Given the description of an element on the screen output the (x, y) to click on. 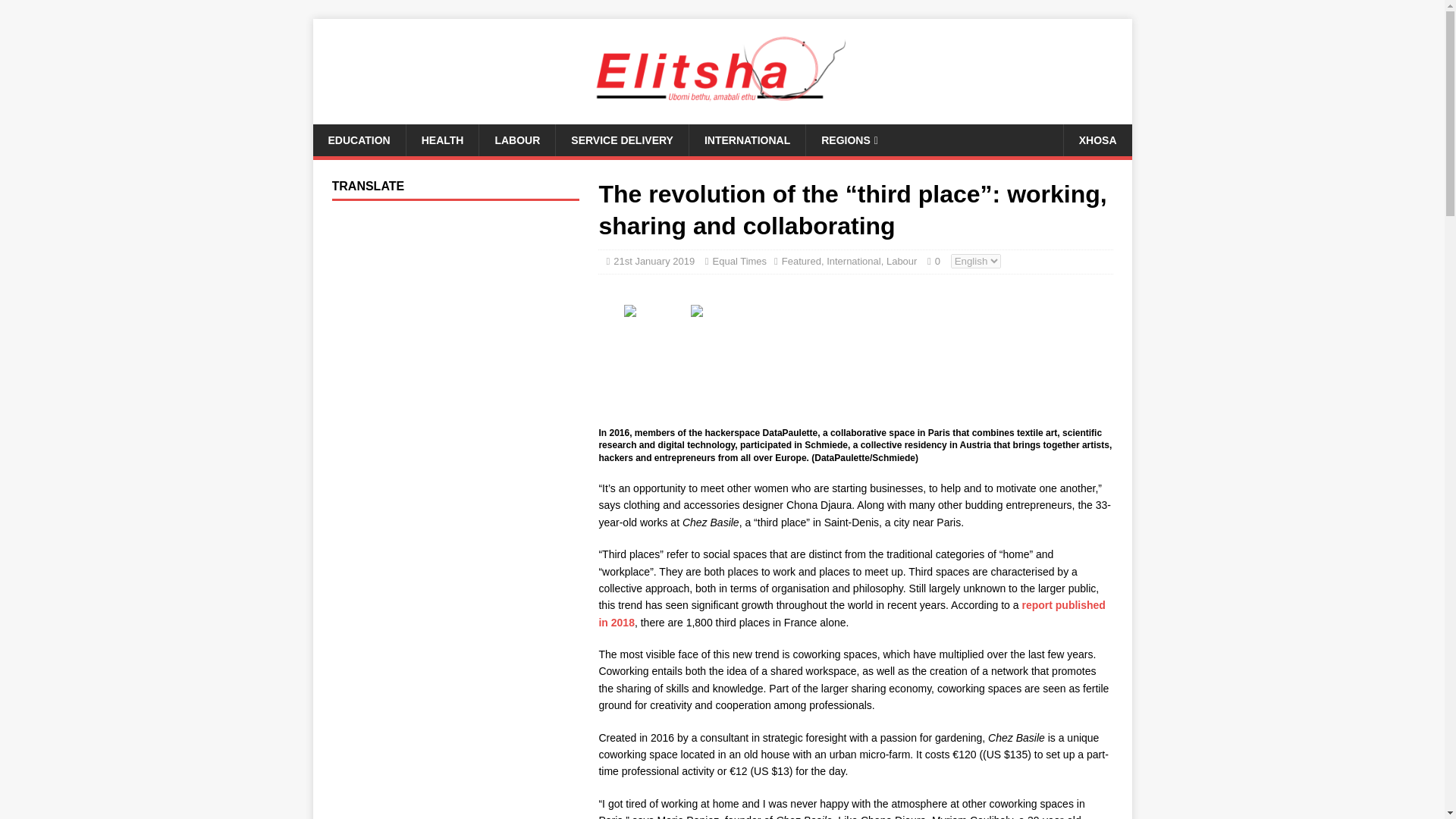
report published in 2018 (851, 613)
Featured (801, 260)
21st January 2019 (653, 260)
XHOSA (1097, 140)
LABOUR (516, 140)
International (853, 260)
SERVICE DELIVERY (621, 140)
Labour (901, 260)
EDUCATION (358, 140)
HEALTH (442, 140)
